Given the description of an element on the screen output the (x, y) to click on. 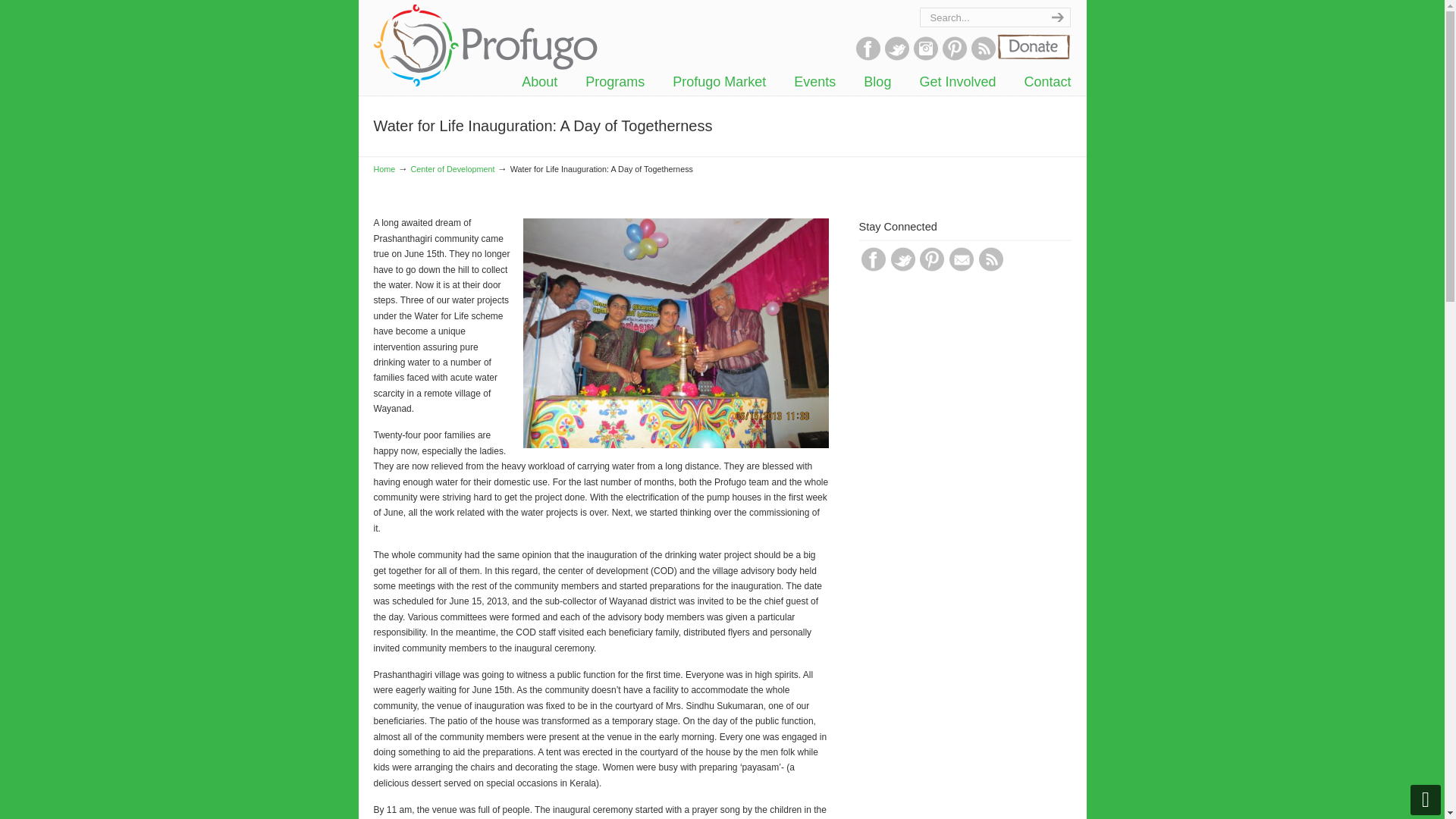
Twitter (895, 57)
Programs (614, 81)
Facebook (867, 57)
About (539, 81)
Blog (876, 81)
Pinterest (954, 57)
Get Involved (957, 81)
RSS (982, 57)
search (1055, 17)
Profugo Market (719, 81)
search (1055, 17)
Instagram (924, 57)
Donate via PayPal (1032, 46)
search (1055, 17)
Events (814, 81)
